Given the description of an element on the screen output the (x, y) to click on. 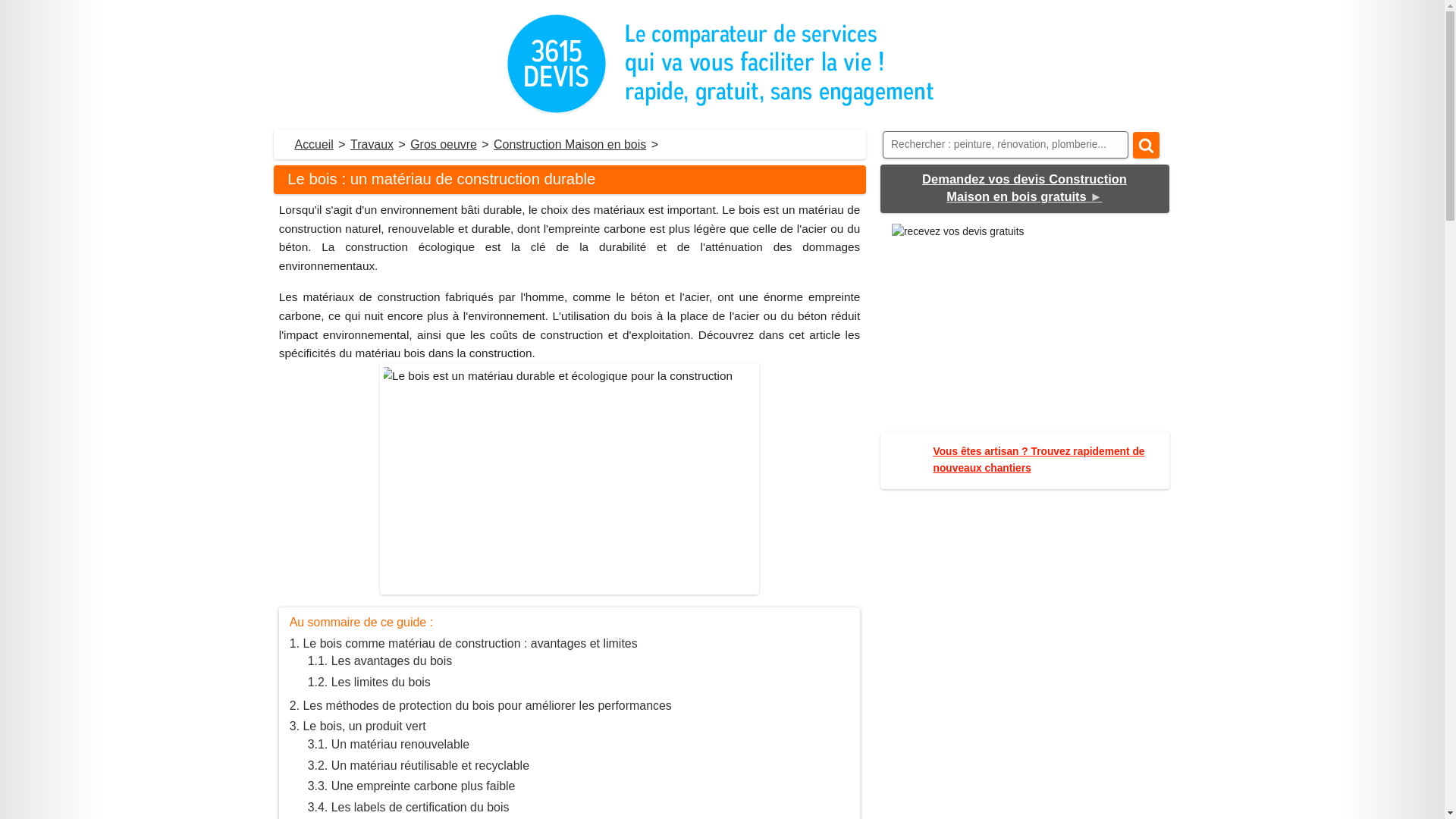
Rechercher sur 3615 Devis Element type: hover (1145, 144)
Travaux Element type: text (371, 144)
Construction Maison en bois Element type: text (569, 144)
Une empreinte carbone plus faible Element type: text (411, 785)
Accueil Element type: text (313, 144)
Les limites du bois Element type: text (368, 681)
accueil 3615 Devis.com Element type: hover (721, 63)
Les labels de certification du bois Element type: text (408, 806)
Les avantages du bois Element type: text (379, 660)
Le bois, un produit vert Element type: text (357, 725)
Gros oeuvre Element type: text (443, 144)
